Given the description of an element on the screen output the (x, y) to click on. 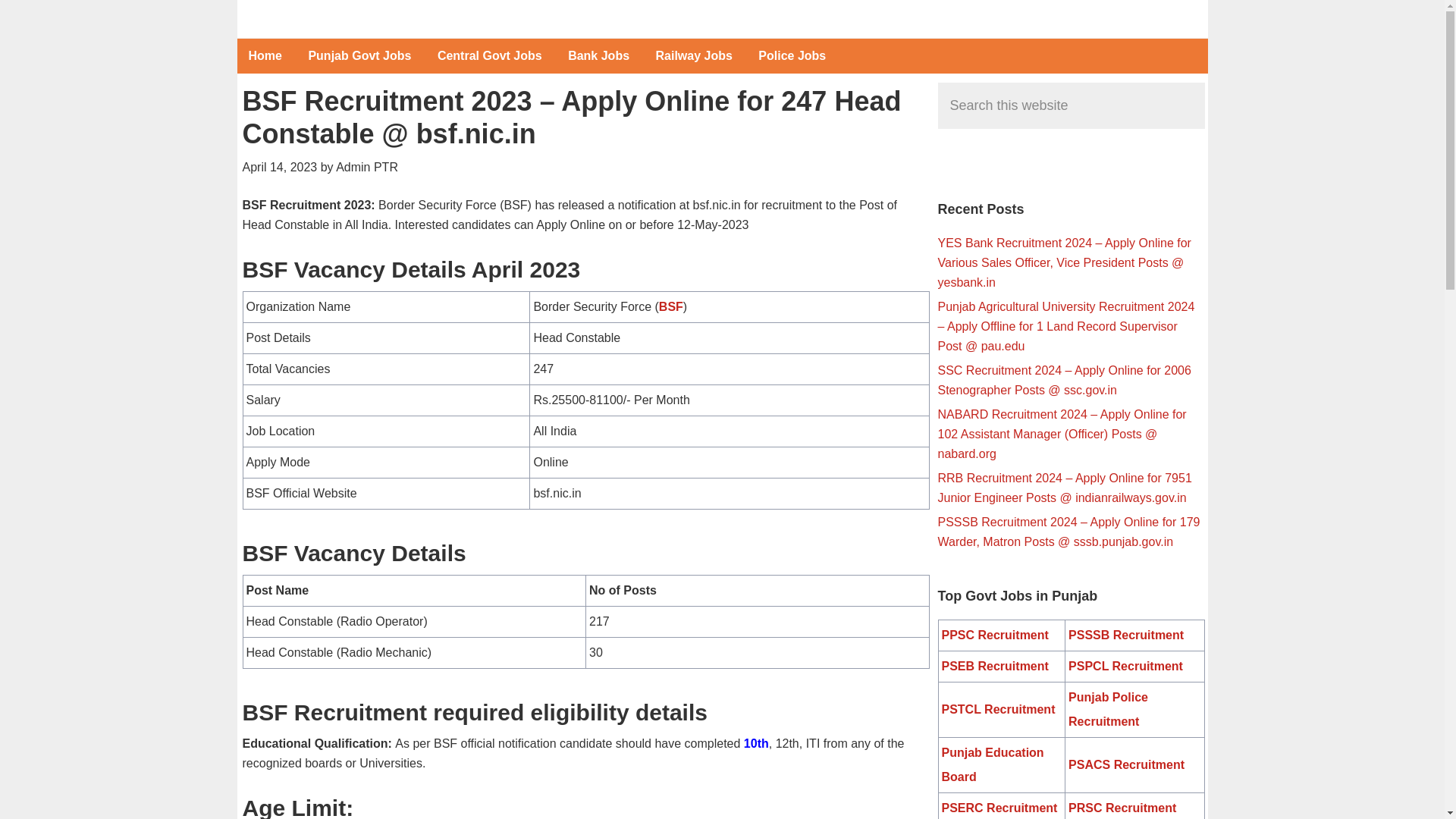
Punjab Education Board (992, 764)
PSEB Recruitment (995, 666)
PPSC Recruitment (995, 634)
Police Jobs (791, 55)
Bank Jobs (598, 55)
10th (756, 743)
Central Govt Jobs (489, 55)
PSPCL Recruitment (1125, 666)
PSACS Recruitment (1126, 764)
Punjab Govt Jobs (359, 55)
PRSC Recruitment (1122, 807)
PSTCL Recruitment (998, 708)
BSF (670, 306)
